Given the description of an element on the screen output the (x, y) to click on. 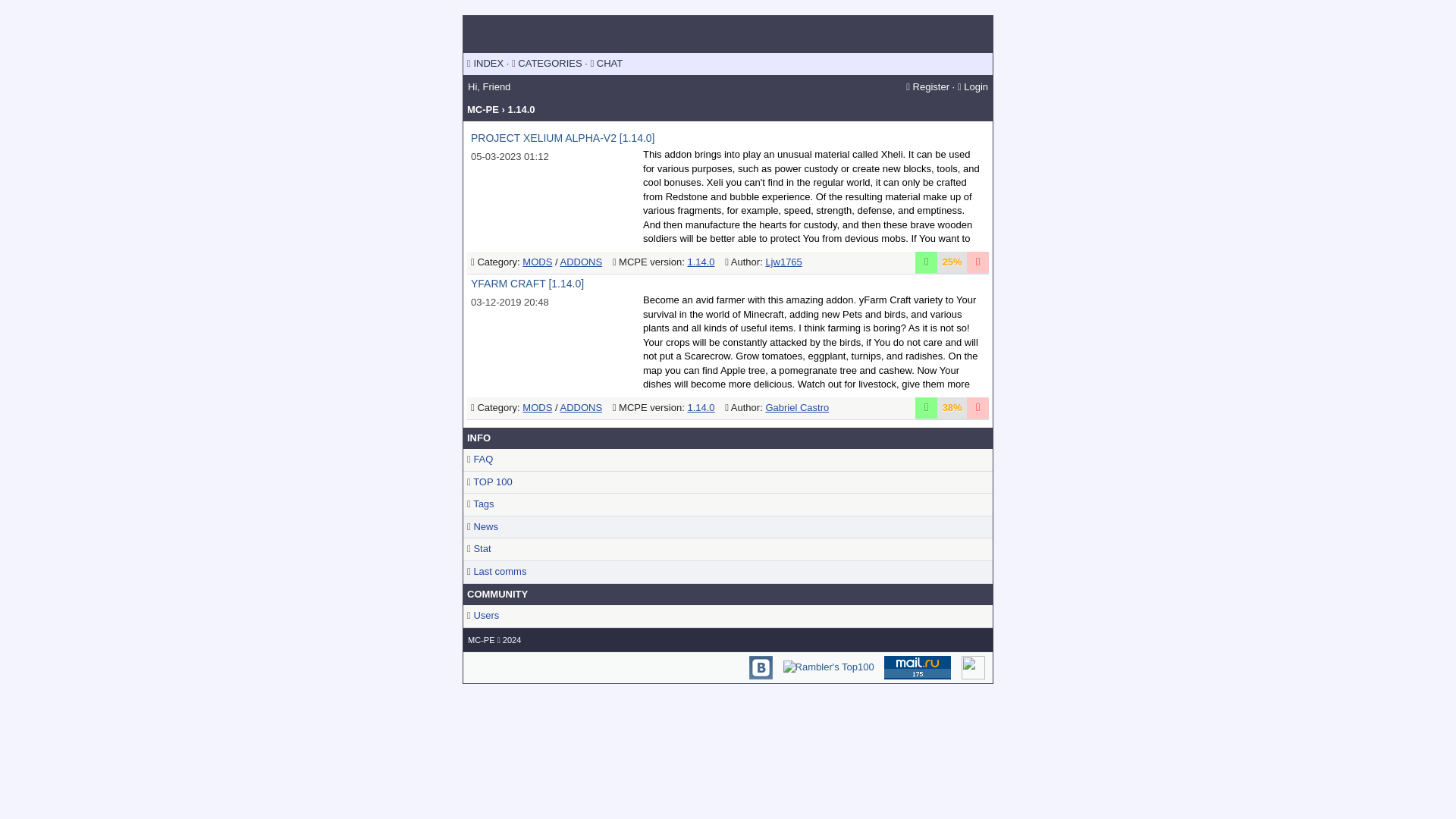
Users (486, 614)
MC-PE (481, 639)
Last comms (499, 571)
INDEX (488, 62)
MC-PE (483, 109)
FAQ (483, 459)
TOP 100 (492, 481)
Tags (483, 503)
MC-PE (481, 639)
Stat (481, 548)
News (485, 526)
